Given the description of an element on the screen output the (x, y) to click on. 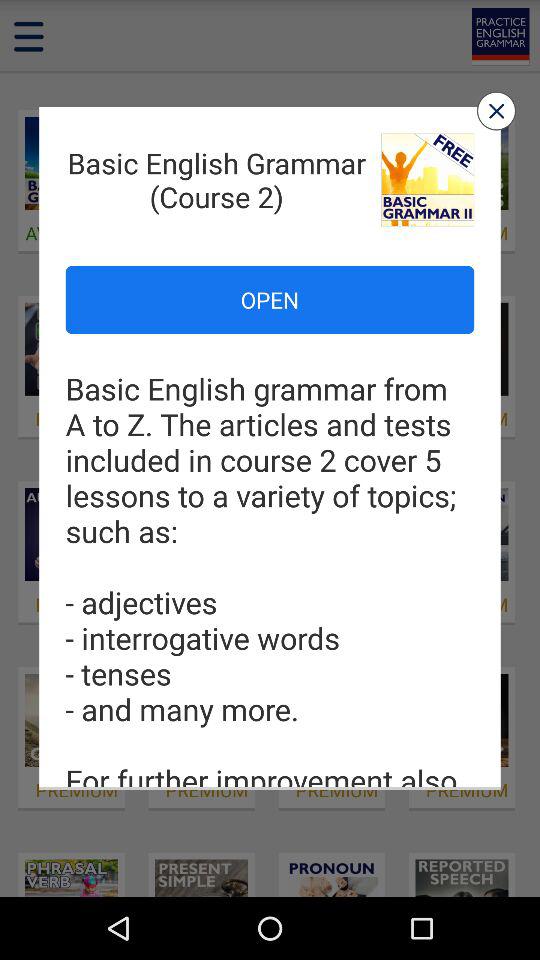
close pop up (496, 110)
